Given the description of an element on the screen output the (x, y) to click on. 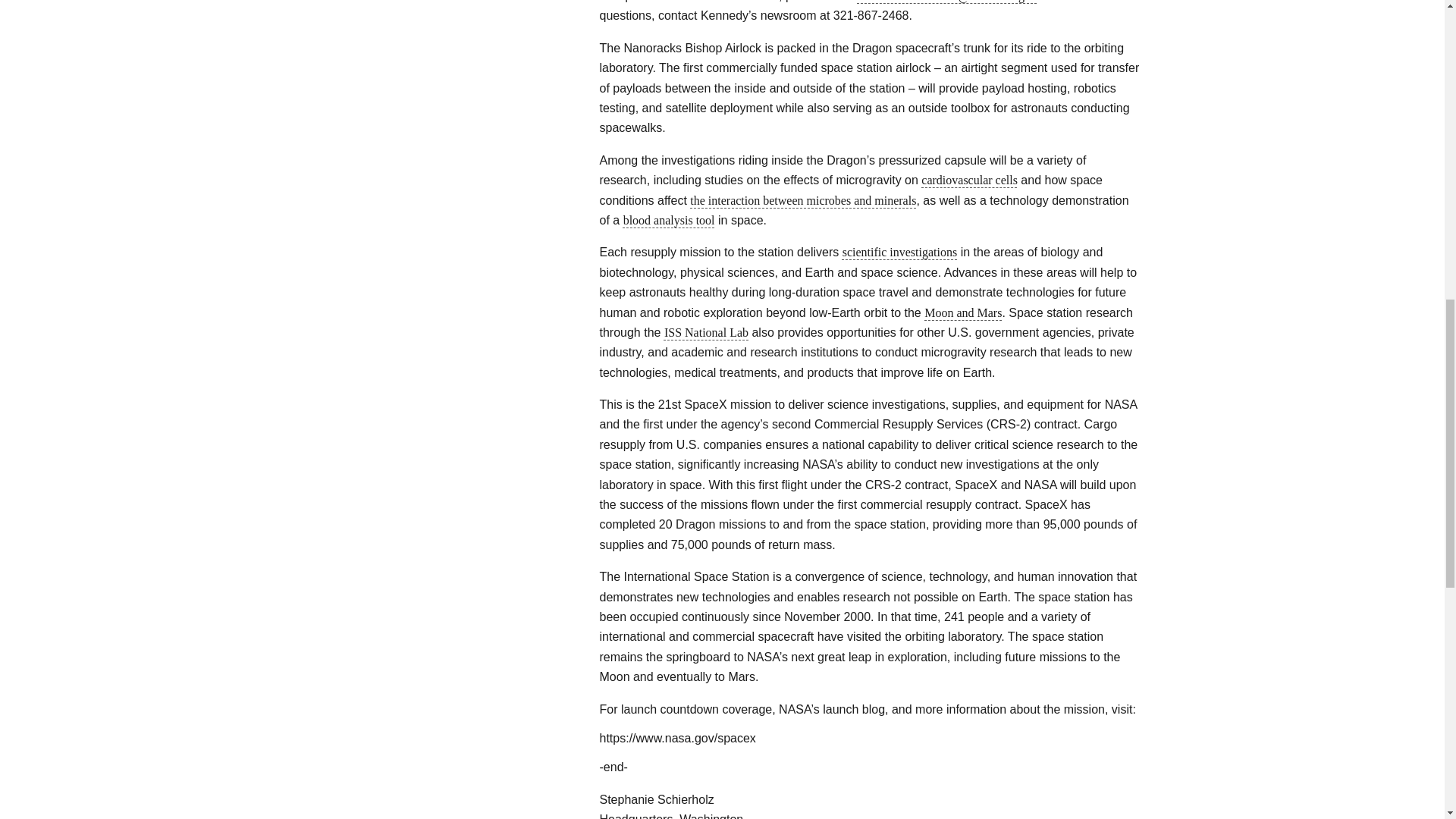
scientific investigations (900, 251)
cardiovascular cells (969, 179)
the interaction between microbes and minerals (802, 200)
ISS National Lab (705, 332)
blood analysis tool (668, 219)
Moon and Mars (962, 312)
